Given the description of an element on the screen output the (x, y) to click on. 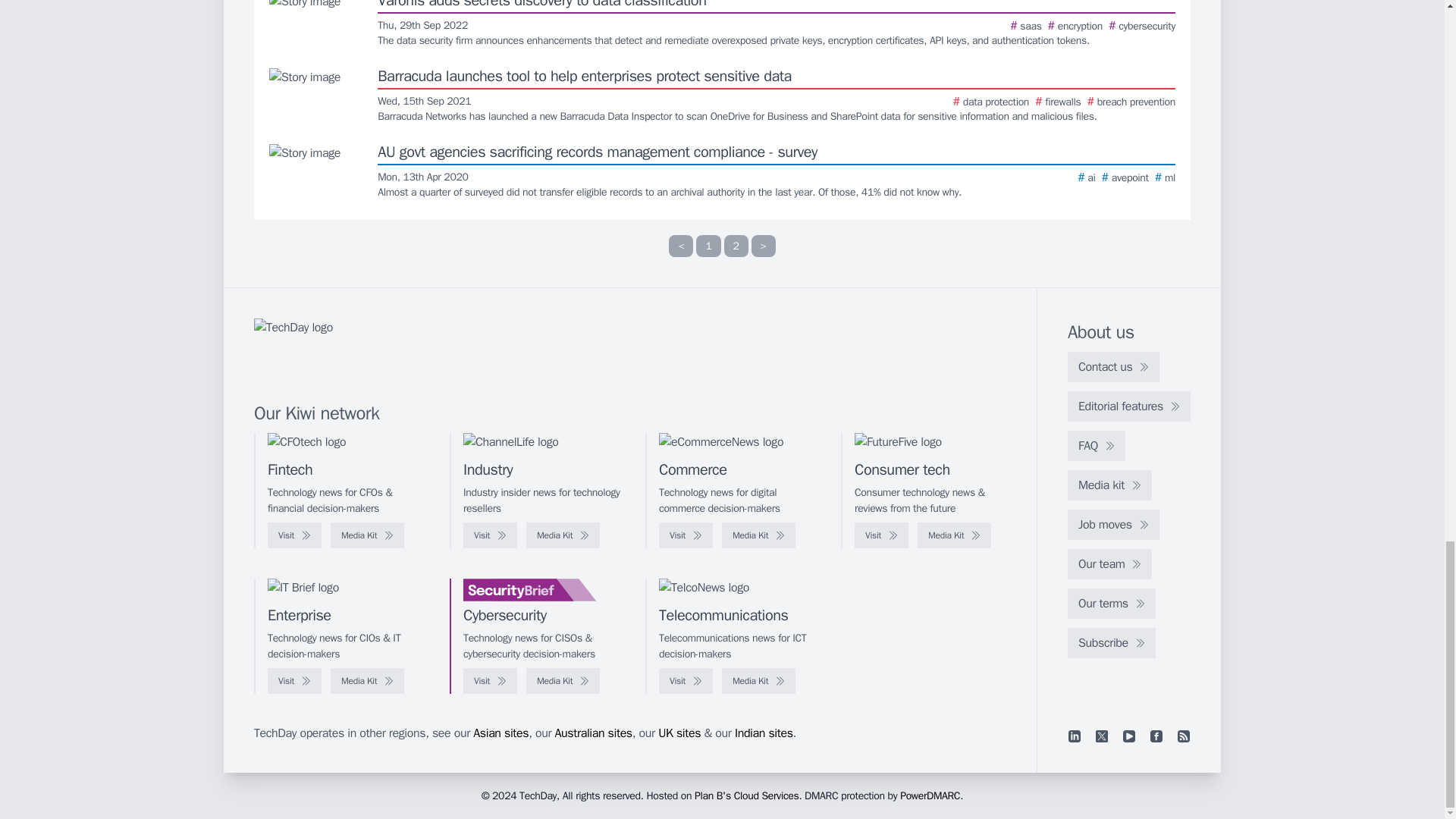
1 (707, 246)
Visit (294, 534)
Visit (489, 534)
Media Kit (562, 534)
Media Kit (367, 534)
2 (735, 246)
